Given the description of an element on the screen output the (x, y) to click on. 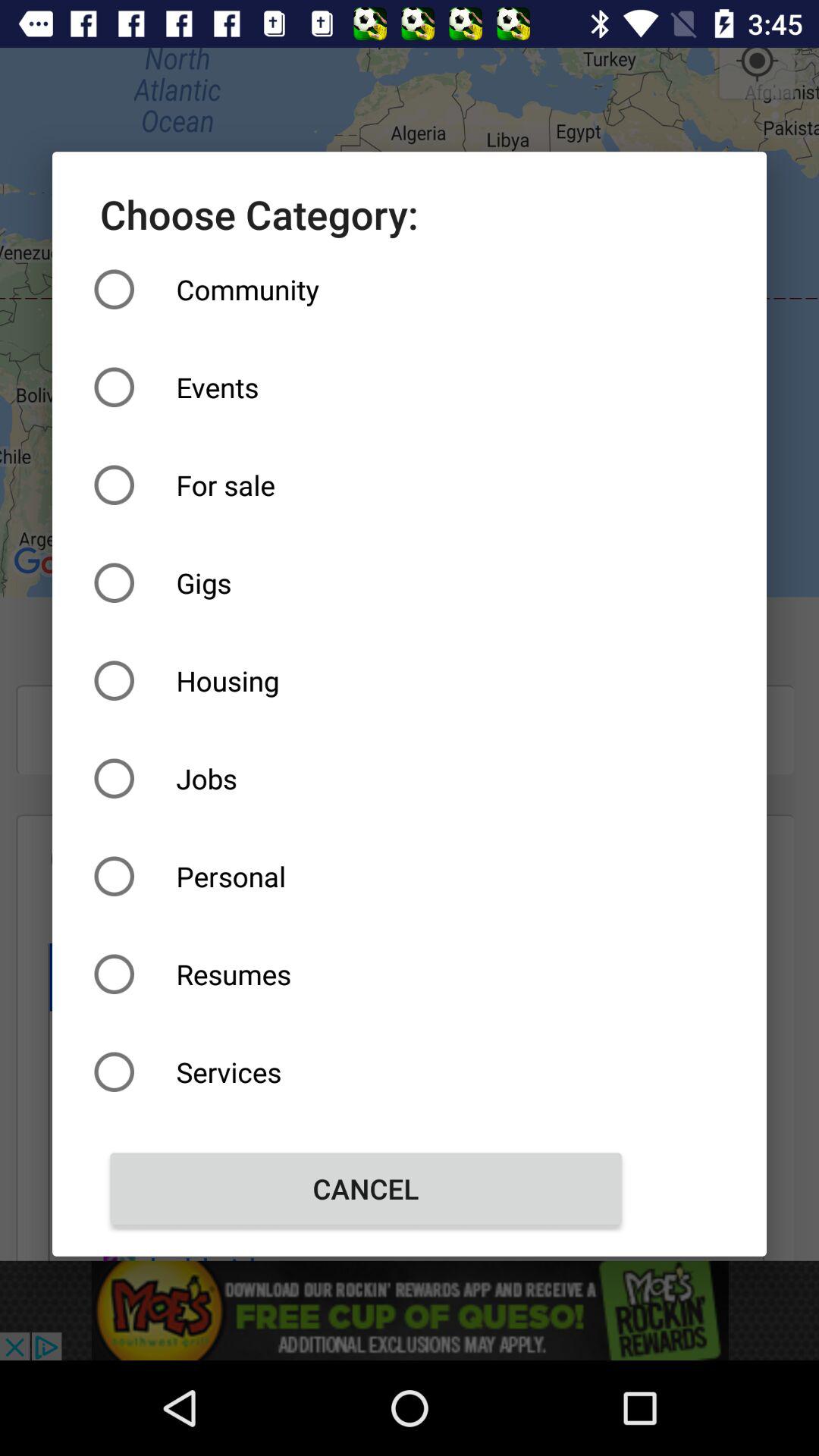
select for sale icon (365, 485)
